Given the description of an element on the screen output the (x, y) to click on. 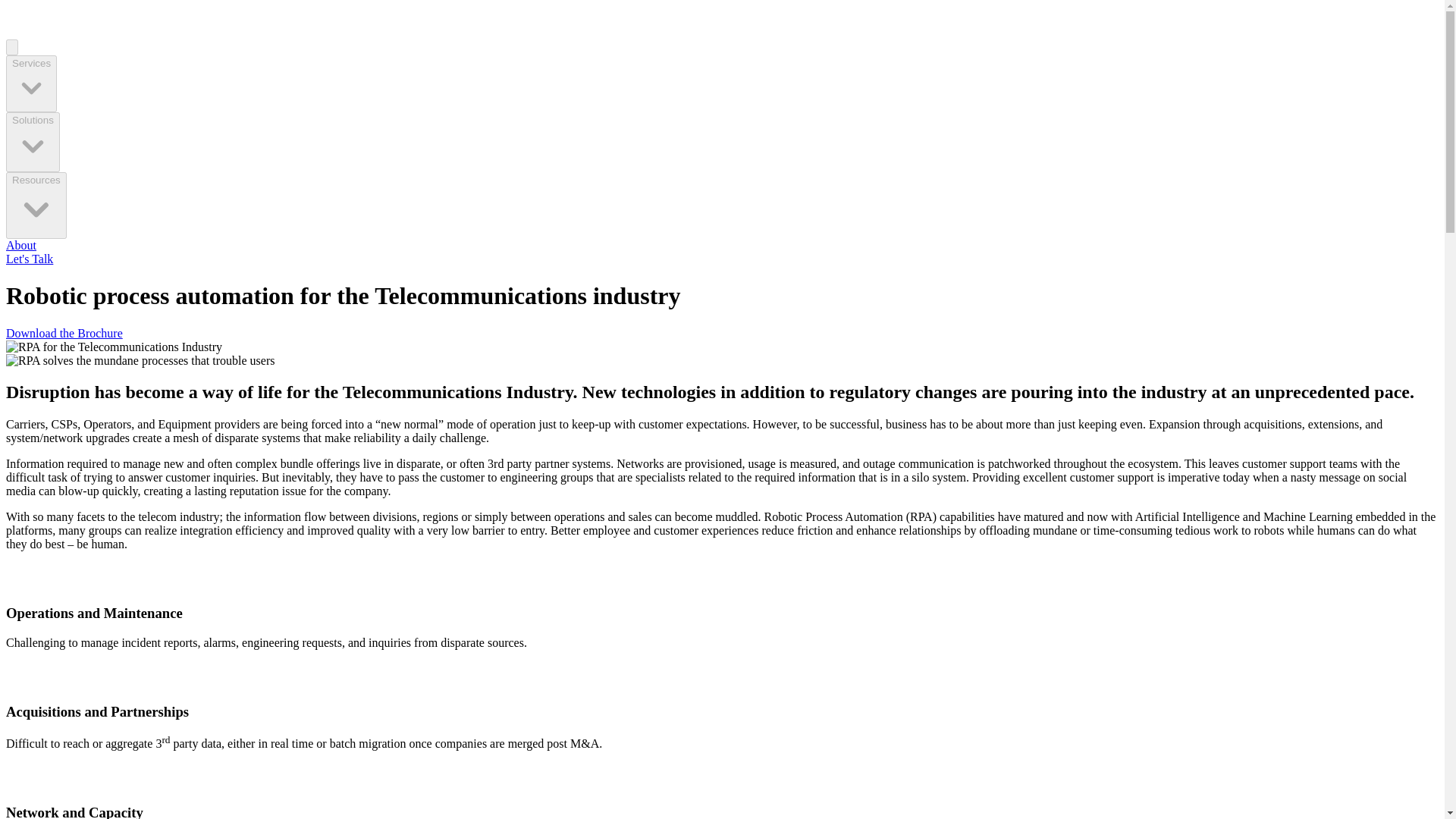
Solutions (32, 141)
Resources (35, 205)
Download the Brochure (63, 332)
Services (30, 83)
About (20, 245)
